Given the description of an element on the screen output the (x, y) to click on. 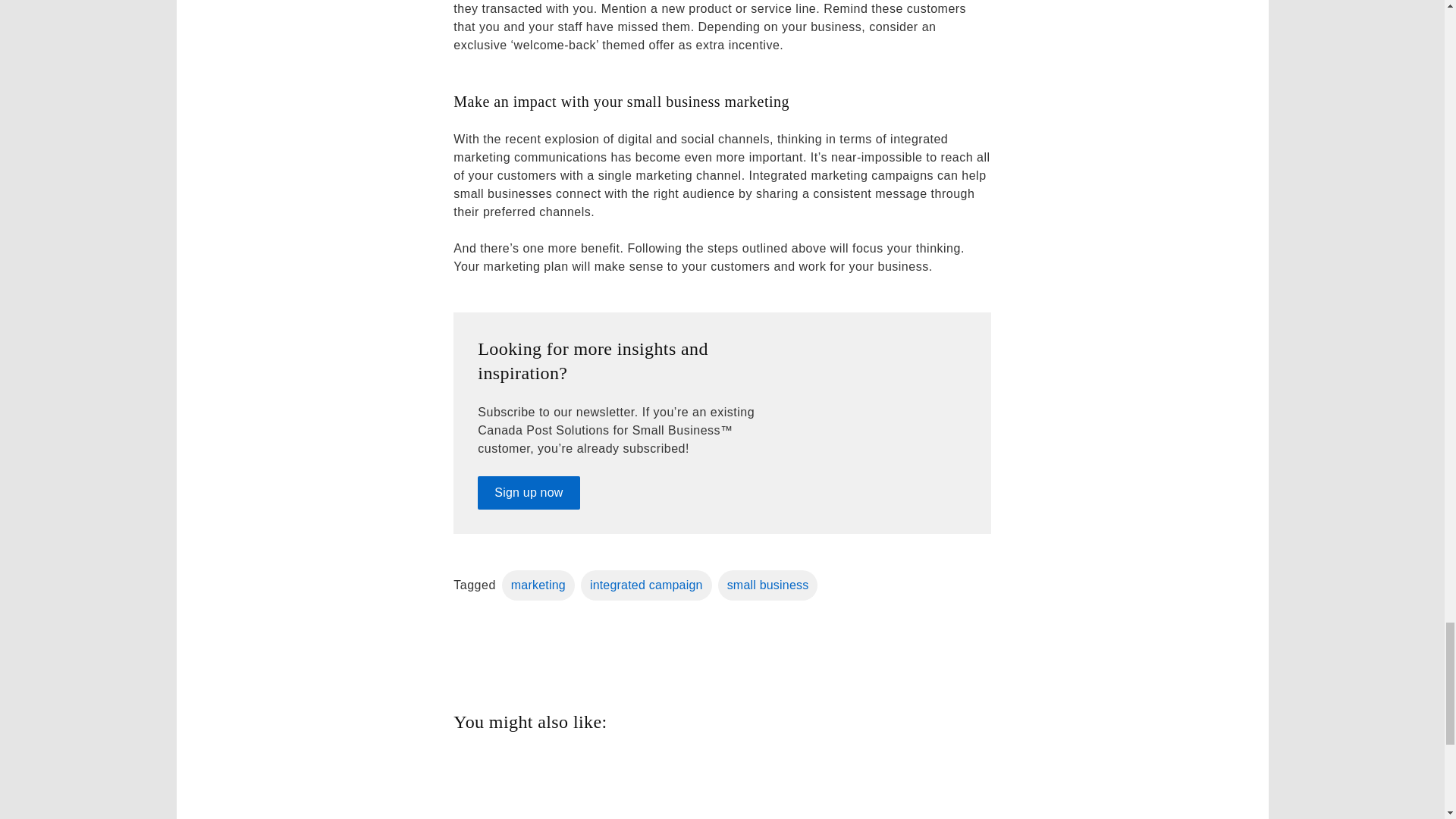
small business (767, 585)
Sign up now (528, 492)
marketing (538, 585)
integrated campaign (645, 585)
